Given the description of an element on the screen output the (x, y) to click on. 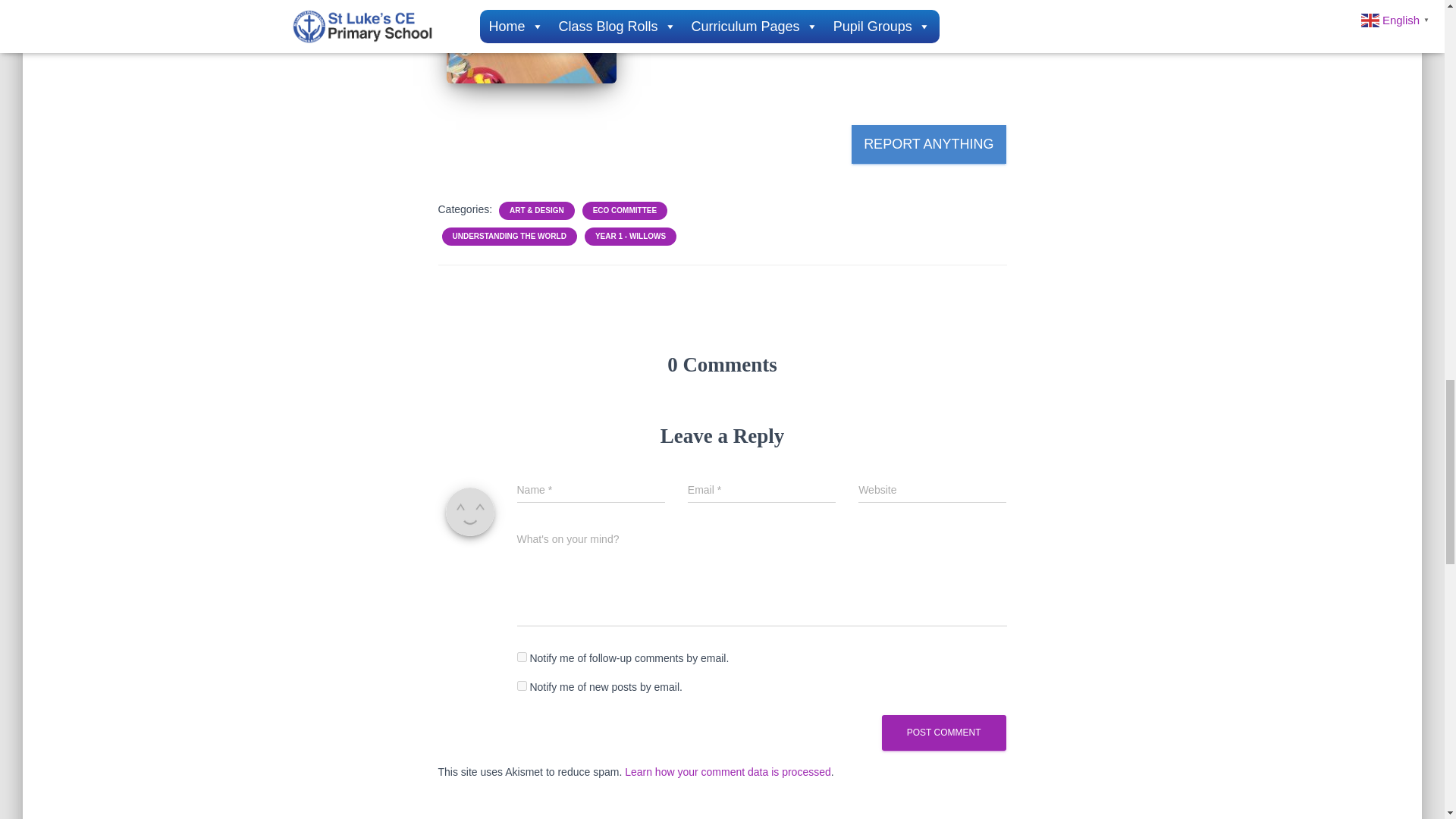
subscribe (521, 685)
subscribe (521, 656)
Post Comment (944, 732)
